Given the description of an element on the screen output the (x, y) to click on. 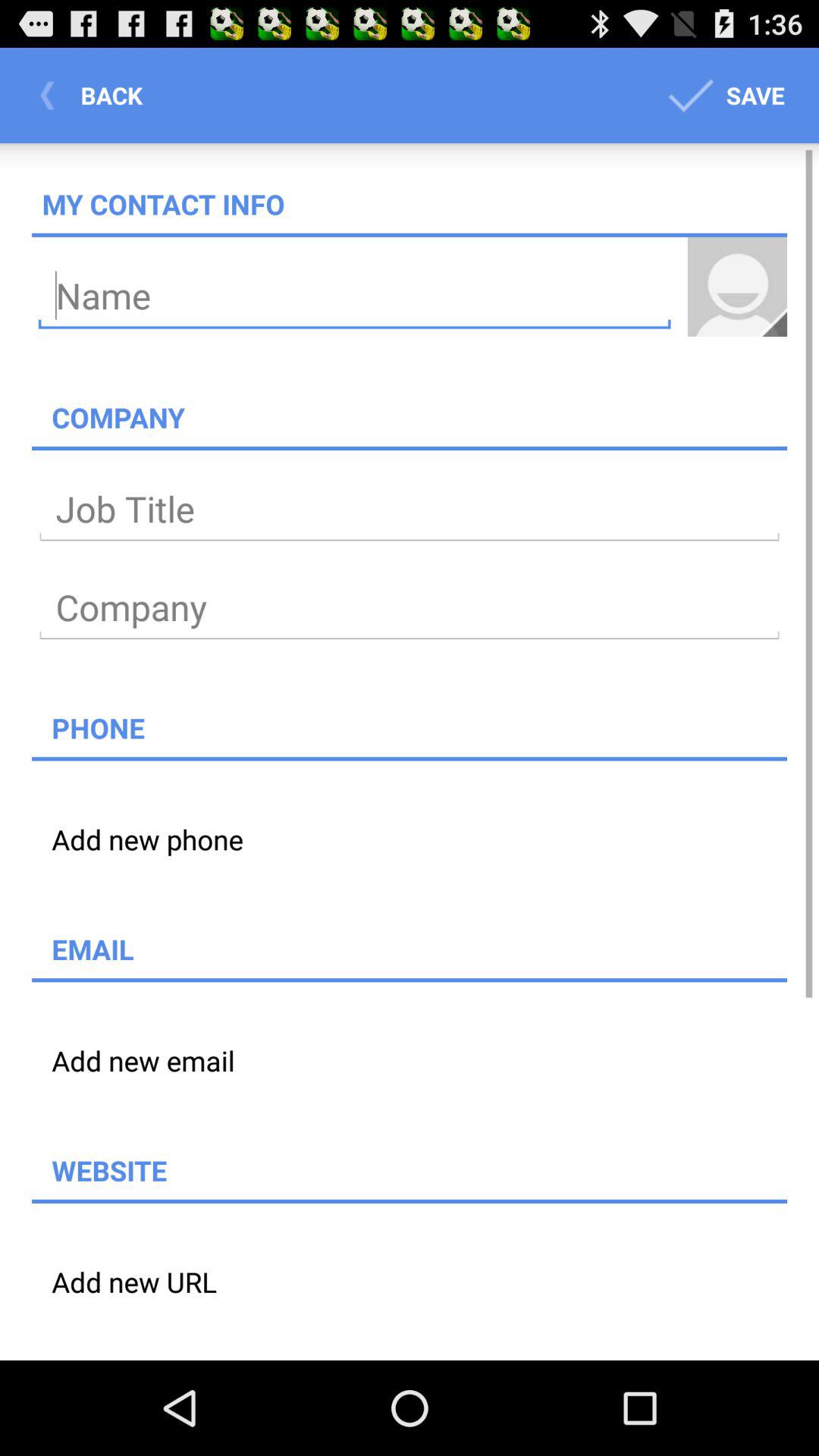
flip until save item (723, 95)
